Given the description of an element on the screen output the (x, y) to click on. 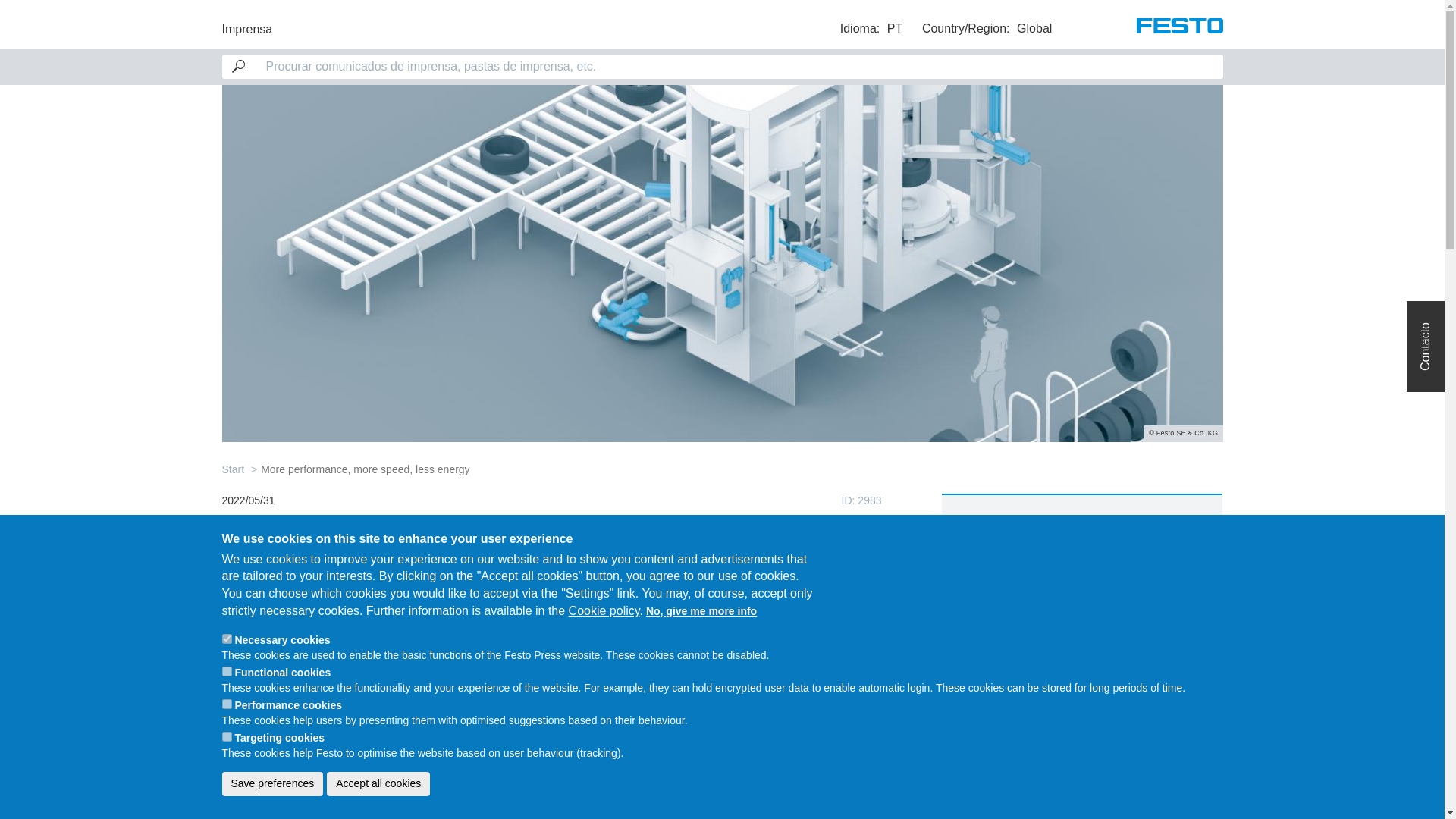
Tire manufacturing (1123, 590)
Start (232, 469)
Imprensa (246, 23)
behavioral (226, 737)
Digitalisation (1101, 554)
Submit (29, 14)
Automotive industry (1007, 554)
performance (226, 704)
functional (226, 671)
Festo Motion Terminal (1012, 590)
necessary (226, 638)
Tire Technology Expo (1011, 627)
Select a language (871, 28)
